Given the description of an element on the screen output the (x, y) to click on. 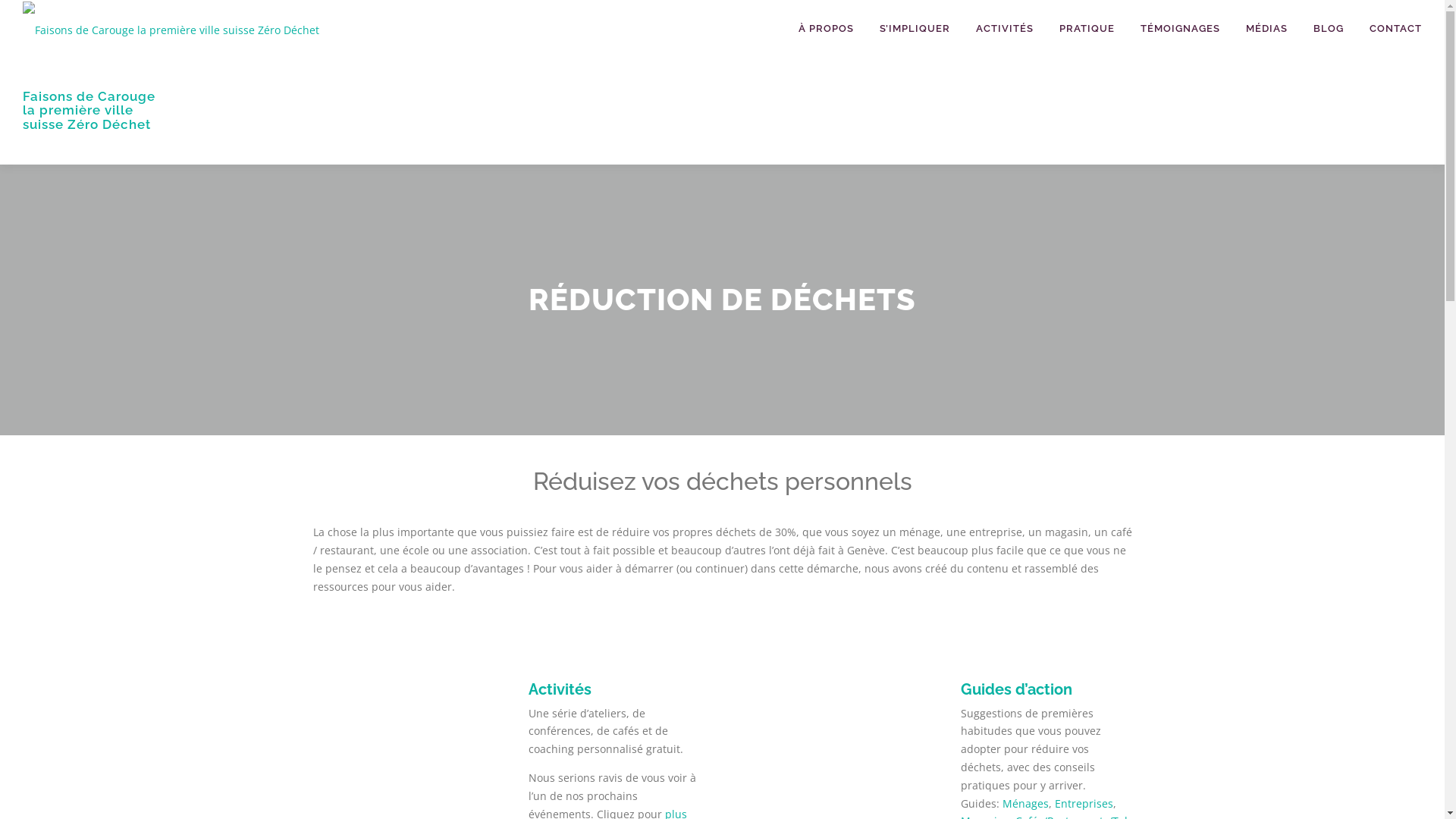
PRATIQUE Element type: text (1086, 28)
BLOG Element type: text (1328, 28)
CONTACT Element type: text (1388, 28)
Entreprises Element type: text (1083, 807)
